Given the description of an element on the screen output the (x, y) to click on. 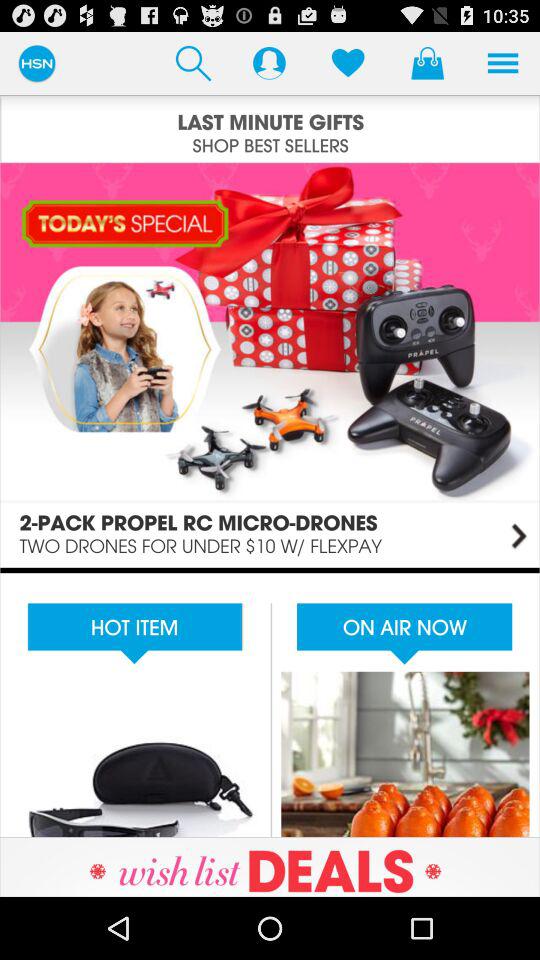
today 's special section (269, 364)
